Given the description of an element on the screen output the (x, y) to click on. 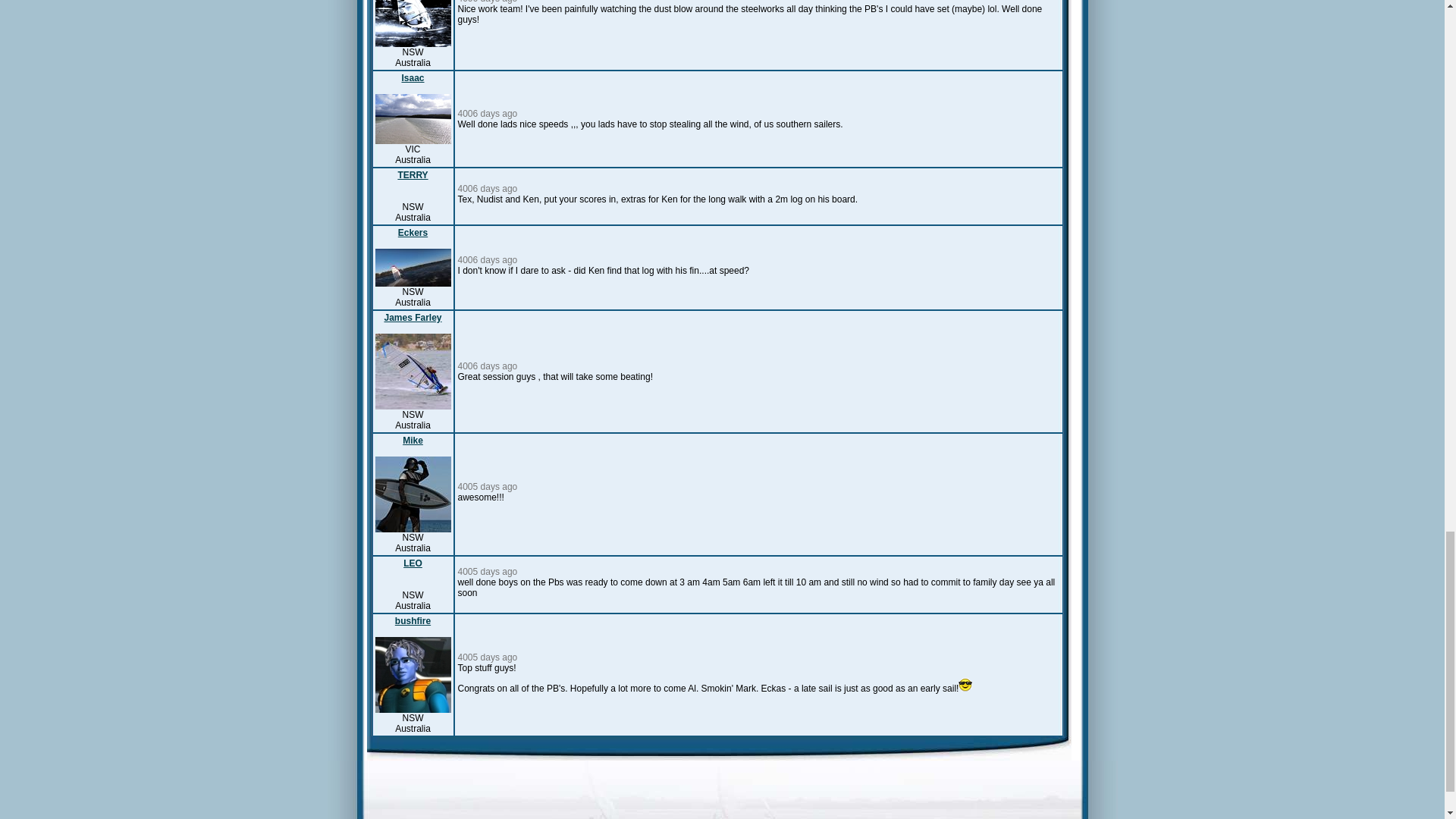
Cool (965, 684)
